Given the description of an element on the screen output the (x, y) to click on. 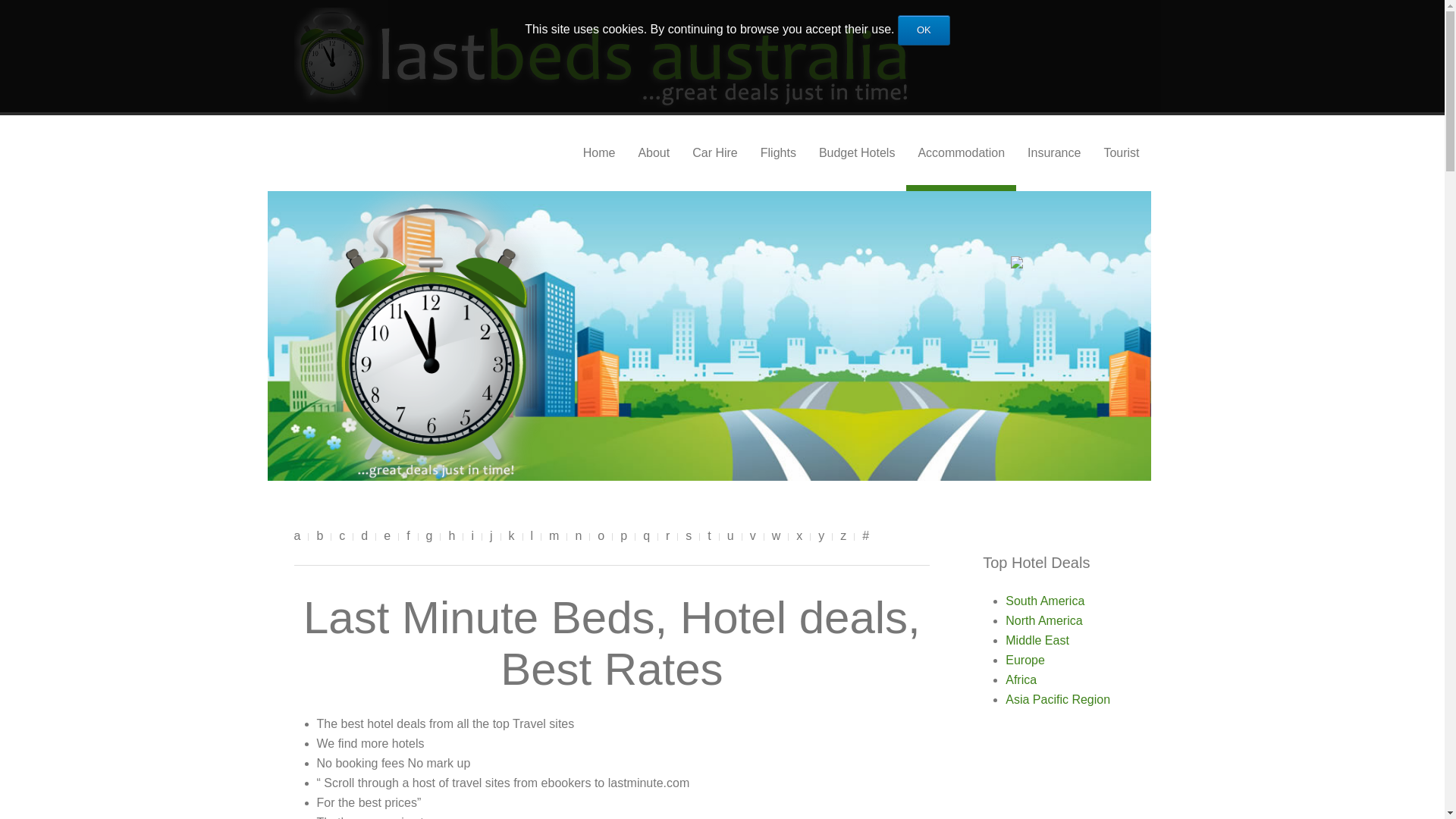
x Element type: text (799, 536)
j Element type: text (490, 536)
v Element type: text (752, 536)
s Element type: text (688, 536)
North America Element type: text (1043, 620)
o Element type: text (600, 536)
y Element type: text (821, 536)
l Element type: text (531, 536)
Insurance Element type: text (1054, 153)
k Element type: text (511, 536)
Tourist Element type: text (1121, 153)
p Element type: text (623, 536)
Flights Element type: text (778, 153)
e Element type: text (386, 536)
c Element type: text (341, 536)
OK Element type: text (923, 30)
Africa Element type: text (1020, 679)
Middle East Element type: text (1037, 639)
f Element type: text (407, 536)
Europe Element type: text (1024, 659)
d Element type: text (363, 536)
Home Element type: text (599, 153)
h Element type: text (451, 536)
About Element type: text (653, 153)
n Element type: text (577, 536)
# Element type: text (865, 536)
Last Beds Australia Website Element type: hover (604, 57)
b Element type: text (319, 536)
z Element type: text (843, 536)
r Element type: text (667, 536)
t Element type: text (708, 536)
South America Element type: text (1044, 600)
i Element type: text (471, 536)
Last Beds Australia, great deals just in time! Element type: hover (427, 335)
Budget Hotels Element type: text (856, 153)
g Element type: text (429, 536)
Accommodation Element type: text (961, 153)
a Element type: text (297, 536)
w Element type: text (776, 536)
q Element type: text (646, 536)
m Element type: text (553, 536)
u Element type: text (730, 536)
Car Hire Element type: text (714, 153)
Asia Pacific Region Element type: text (1057, 699)
